Given the description of an element on the screen output the (x, y) to click on. 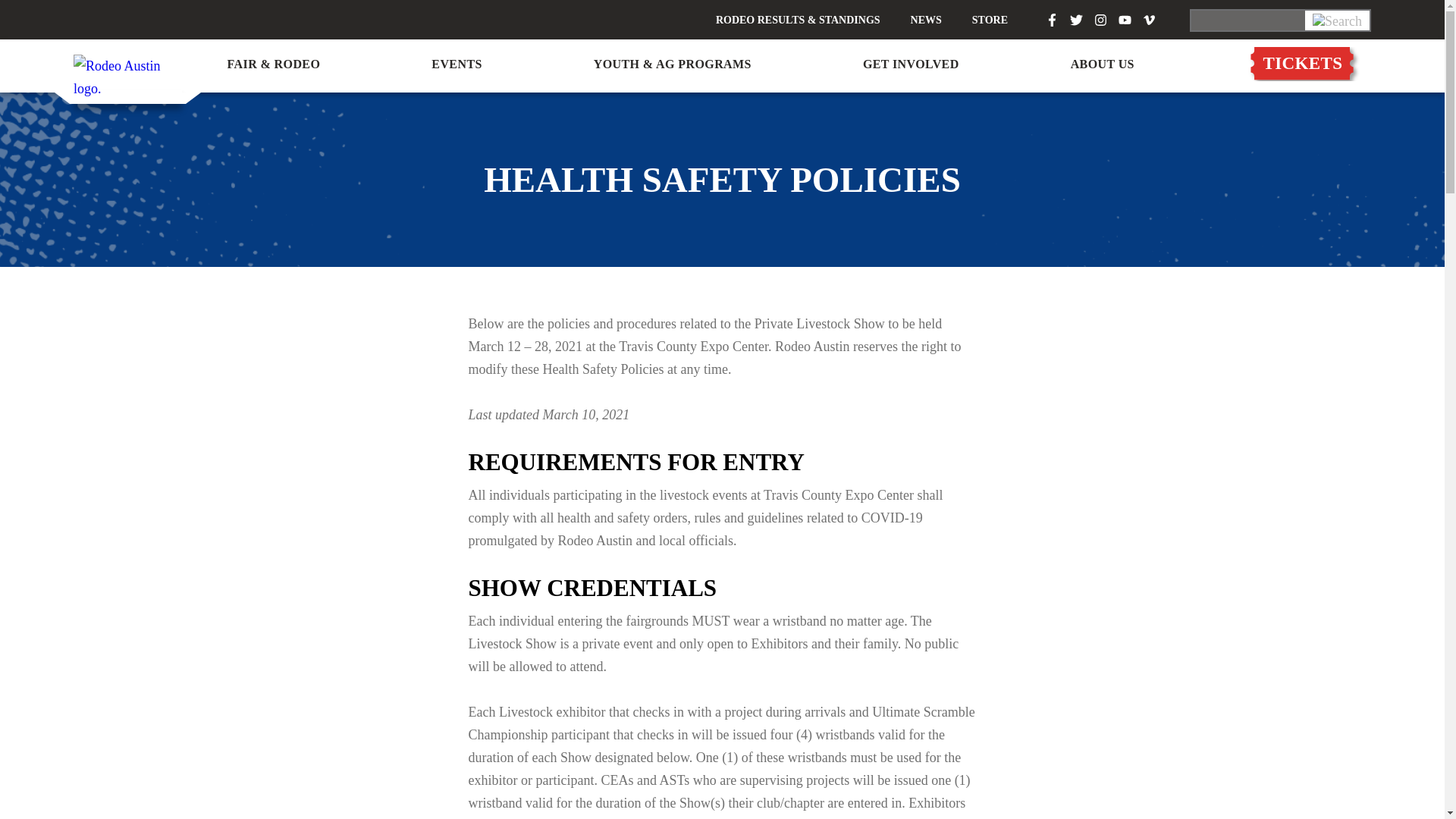
Vimeo (1149, 19)
EVENTS (455, 64)
YouTube (1124, 19)
NEWS (926, 21)
GET INVOLVED (911, 64)
STORE (989, 21)
Twitter (1076, 19)
Instagram (1100, 19)
Events (455, 64)
Facebook (1051, 19)
